Given the description of an element on the screen output the (x, y) to click on. 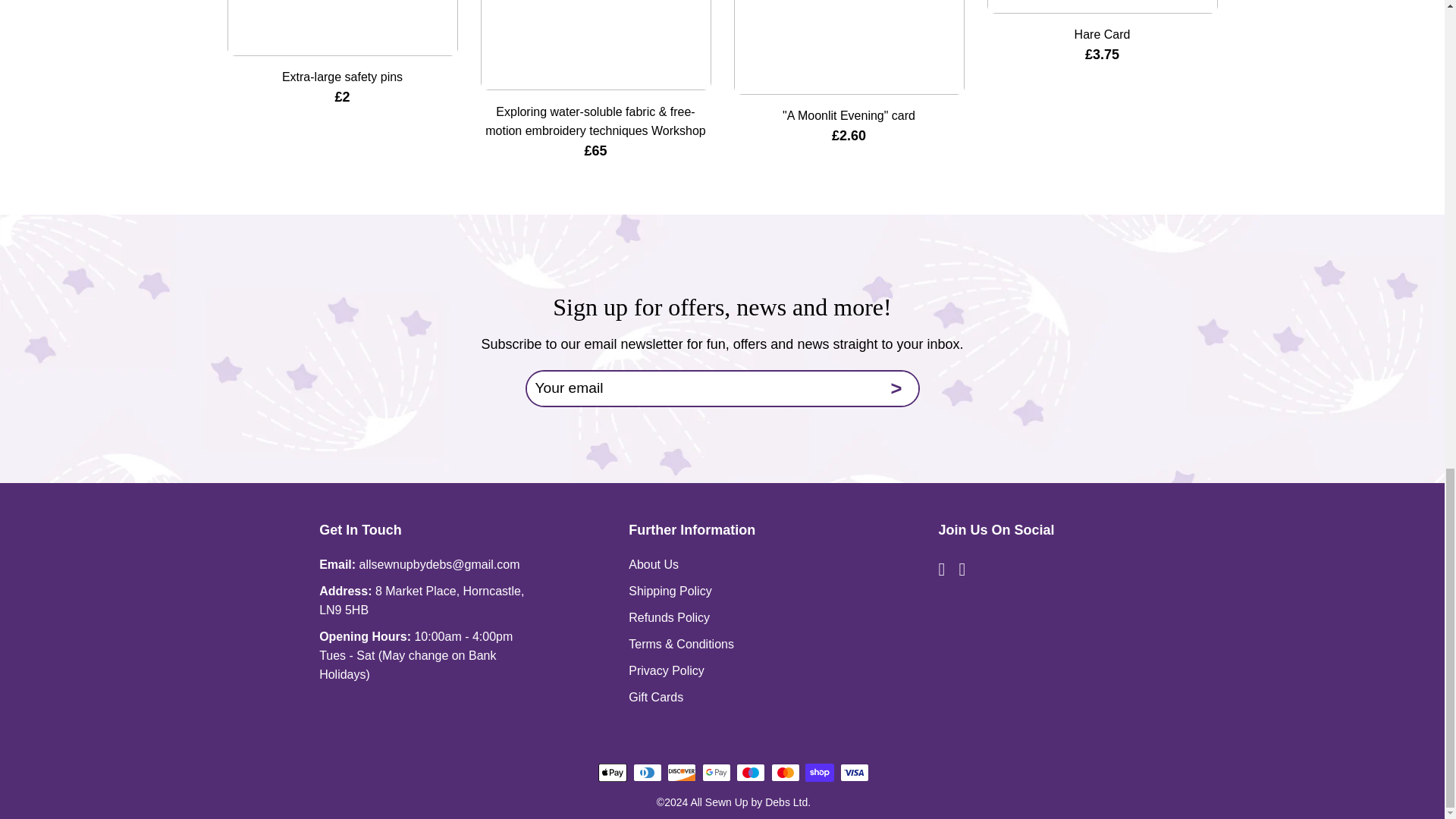
Diners Club (647, 772)
Shop Pay (819, 772)
Discover (680, 772)
Visa (854, 772)
Maestro (750, 772)
Apple Pay (612, 772)
Google Pay (715, 772)
Mastercard (785, 772)
